Given the description of an element on the screen output the (x, y) to click on. 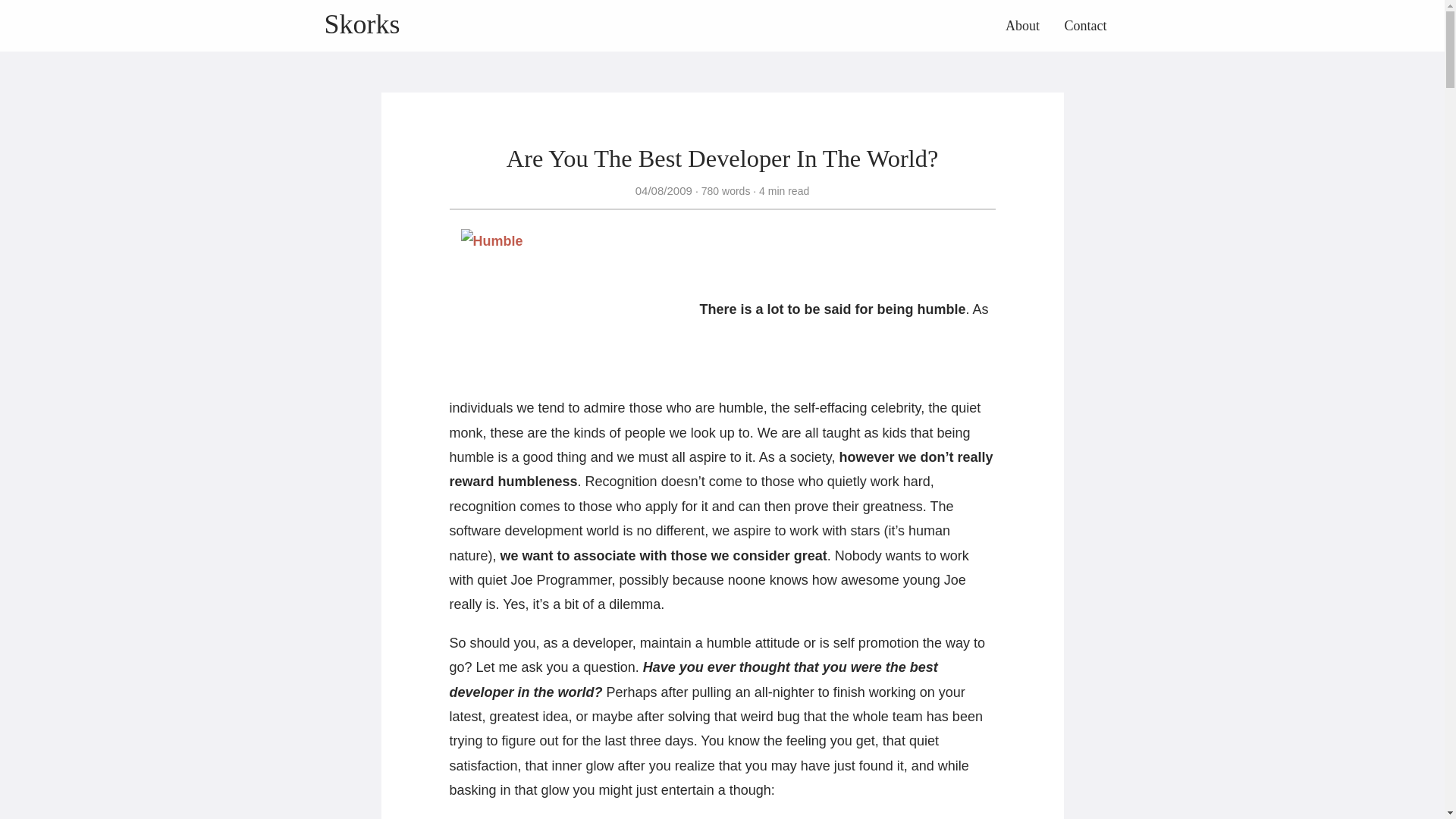
Skorks (362, 24)
Humble (574, 310)
Contact (1085, 25)
About (1022, 25)
Are You The Best Developer In The World? (722, 158)
